Given the description of an element on the screen output the (x, y) to click on. 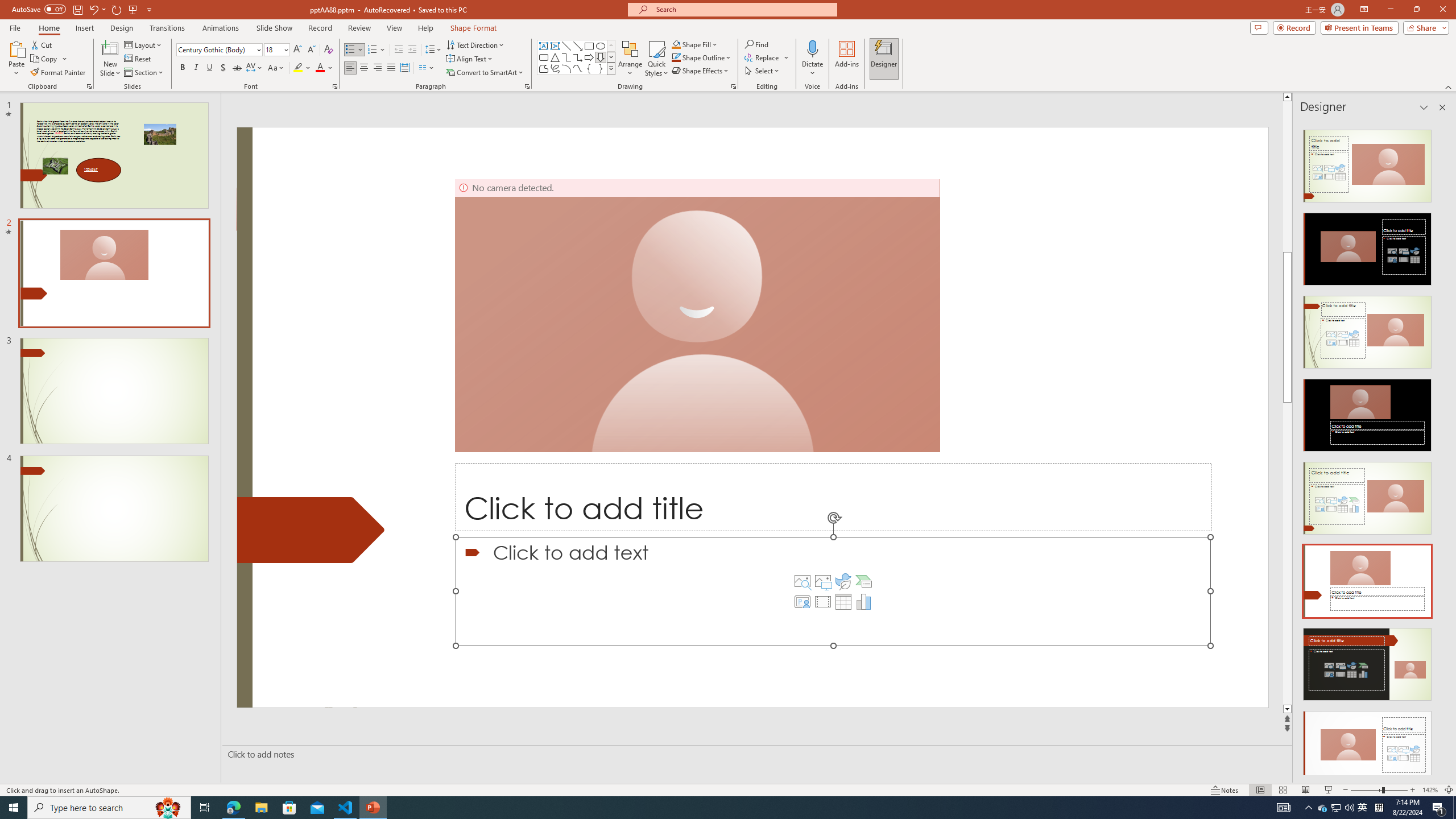
Distributed (404, 67)
Share (1423, 27)
AutoSave (38, 9)
Class: MsoCommandBar (728, 789)
Redo (117, 9)
Text Box (543, 45)
Change Case (276, 67)
Stock Images (801, 581)
Zoom 142% (1430, 790)
Design (122, 28)
Slide Show (273, 28)
Review (359, 28)
Arrow: Right (589, 57)
Designer (883, 58)
